Given the description of an element on the screen output the (x, y) to click on. 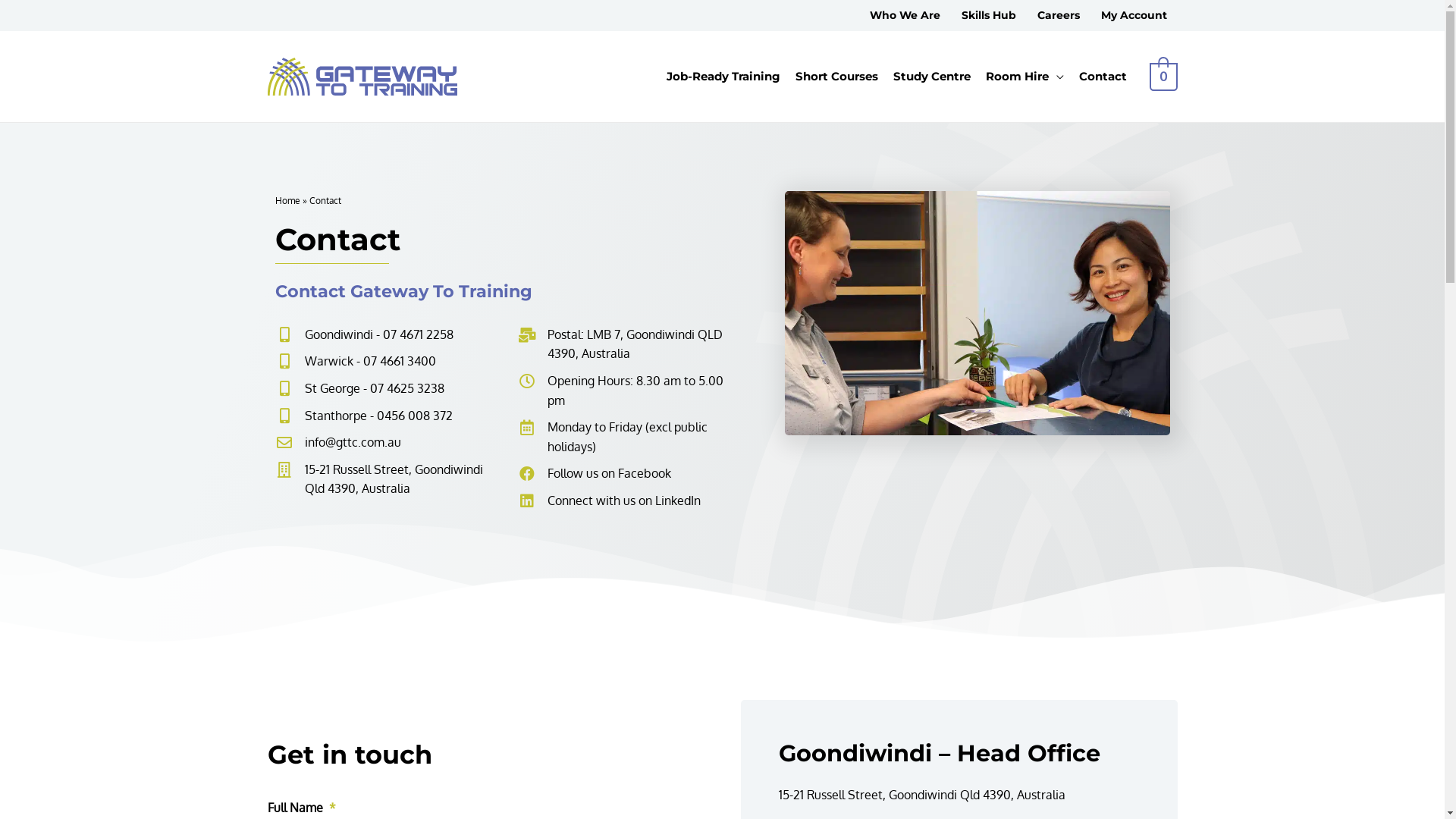
St George - 07 4625 3238 Element type: text (386, 388)
Follow us on Facebook Element type: text (629, 473)
Skills Hub Element type: text (988, 15)
Who We Are Element type: text (904, 15)
Short Courses Element type: text (836, 76)
Room Hire Element type: text (1024, 76)
Study Centre Element type: text (931, 76)
Contact Element type: text (1102, 76)
Careers Element type: text (1058, 15)
My Account Element type: text (1133, 15)
0 Element type: text (1162, 76)
info@gttc.com.au Element type: text (386, 442)
Home Element type: text (286, 200)
Stanthorpe - 0456 008 372 Element type: text (386, 416)
Job-Ready Training Element type: text (722, 76)
Goondiwindi - 07 4671 2258 Element type: text (386, 335)
Warwick - 07 4661 3400 Element type: text (386, 361)
Connect with us on LinkedIn Element type: text (629, 501)
